Given the description of an element on the screen output the (x, y) to click on. 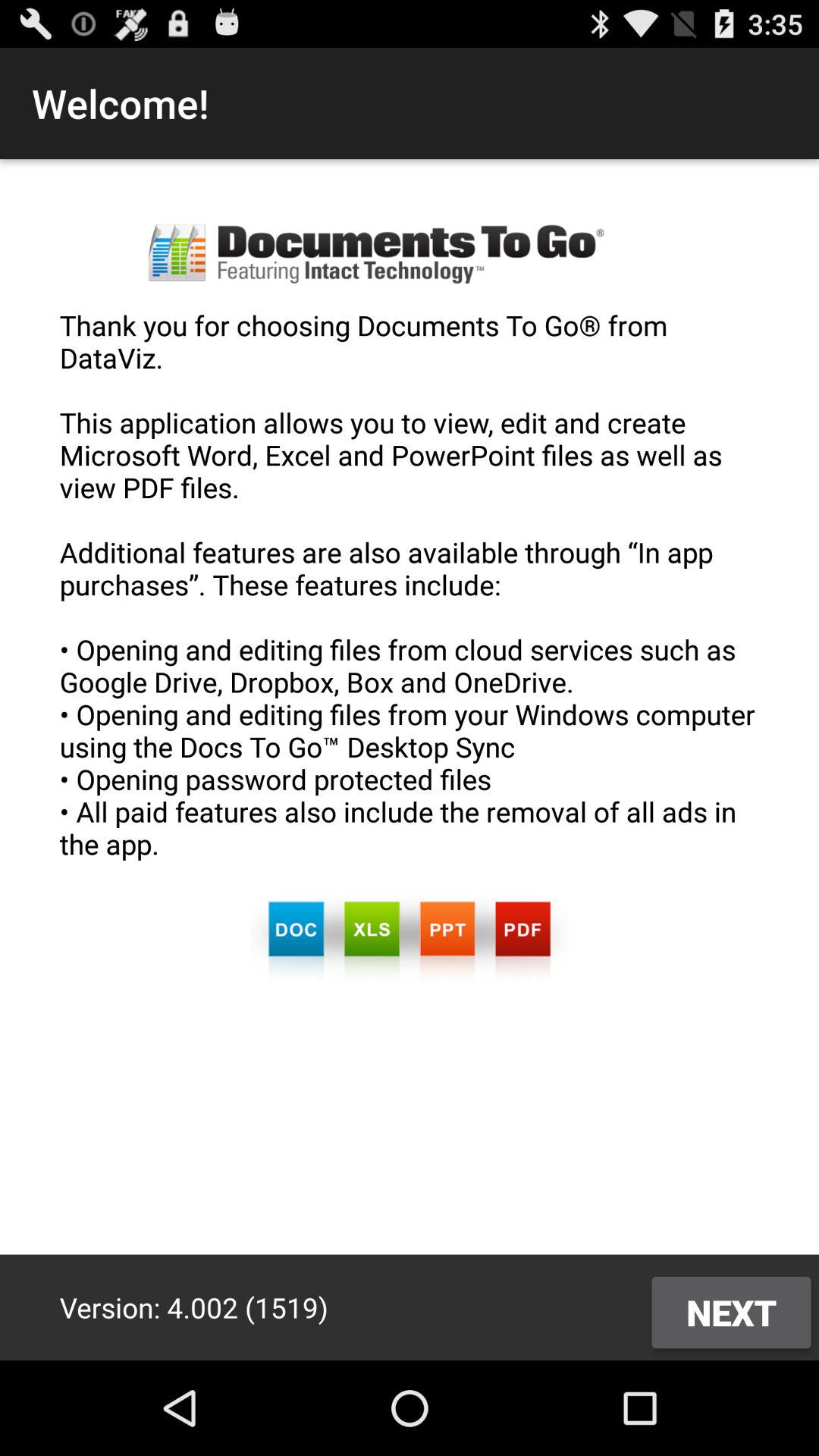
tap the item next to version 4 002 app (731, 1312)
